Given the description of an element on the screen output the (x, y) to click on. 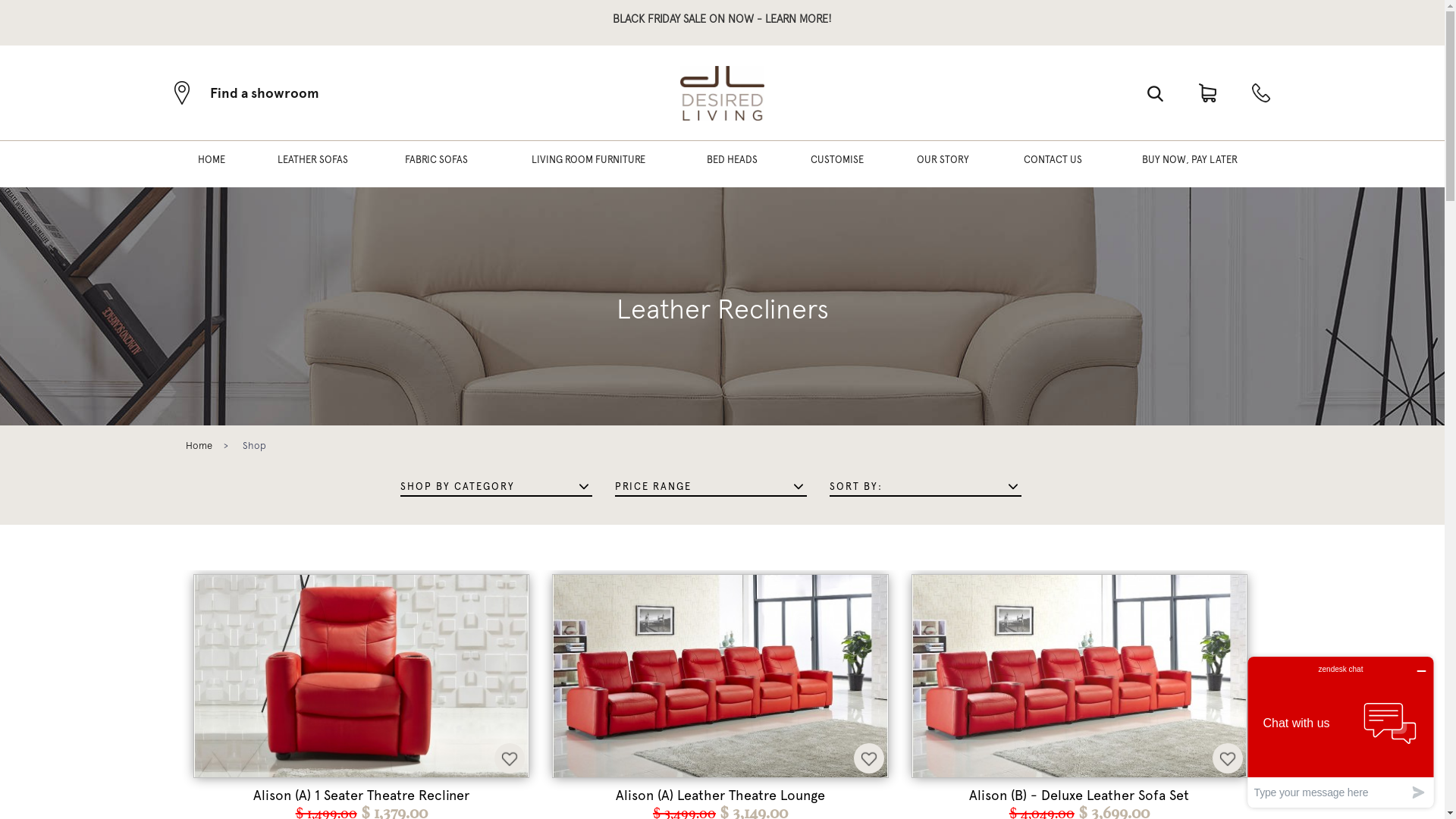
FABRIC SOFAS Element type: text (436, 164)
HOME Element type: text (211, 164)
BUY NOW, PAY LATER Element type: text (1189, 164)
Alison (A) 1 Seater Theatre Recliner Element type: text (361, 795)
Home Element type: text (198, 445)
LIVING ROOM FURNITURE Element type: text (588, 164)
Alison (A) Leather Theatre Lounge Element type: text (719, 795)
BLACK FRIDAY SALE ON NOW - LEARN MORE! Element type: text (721, 18)
Opens a widget where you can chat to one of our agents Element type: hover (1340, 731)
CONTACT US Element type: text (1052, 164)
CUSTOMISE Element type: text (836, 164)
BED HEADS Element type: text (731, 164)
OUR STORY Element type: text (942, 164)
Alison (B) - Deluxe Leather Sofa Set Element type: hover (1079, 675)
Alison (A) 1 Seater Theatre Recliner Element type: hover (361, 675)
Alison (B) - Deluxe Leather Sofa Set Element type: text (1079, 795)
Find a showroom Element type: text (246, 92)
Alison (A) Leather Theatre Lounge Element type: hover (719, 675)
LEATHER SOFAS Element type: text (312, 164)
